Given the description of an element on the screen output the (x, y) to click on. 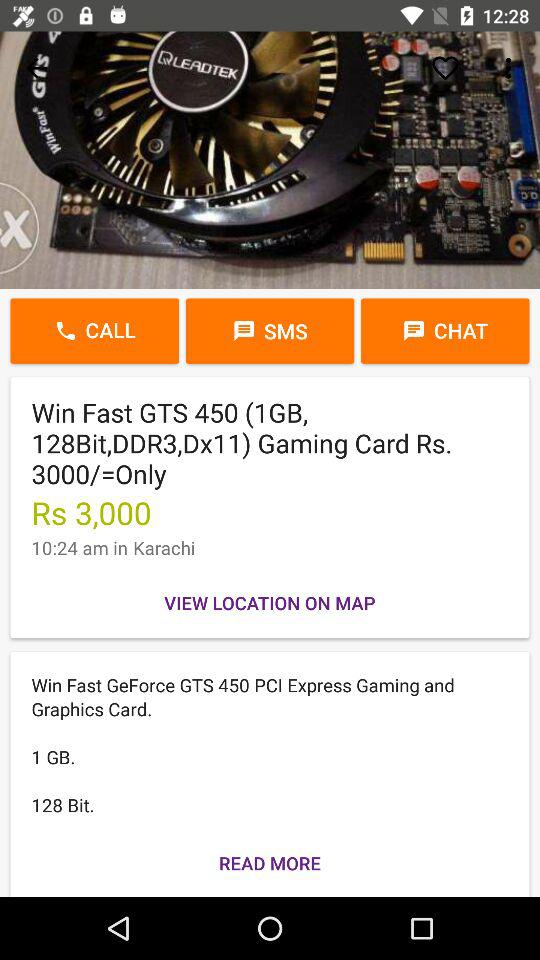
select the item which is under call button (269, 507)
click on call which is before sms (94, 330)
click on the option read more (269, 864)
